Given the description of an element on the screen output the (x, y) to click on. 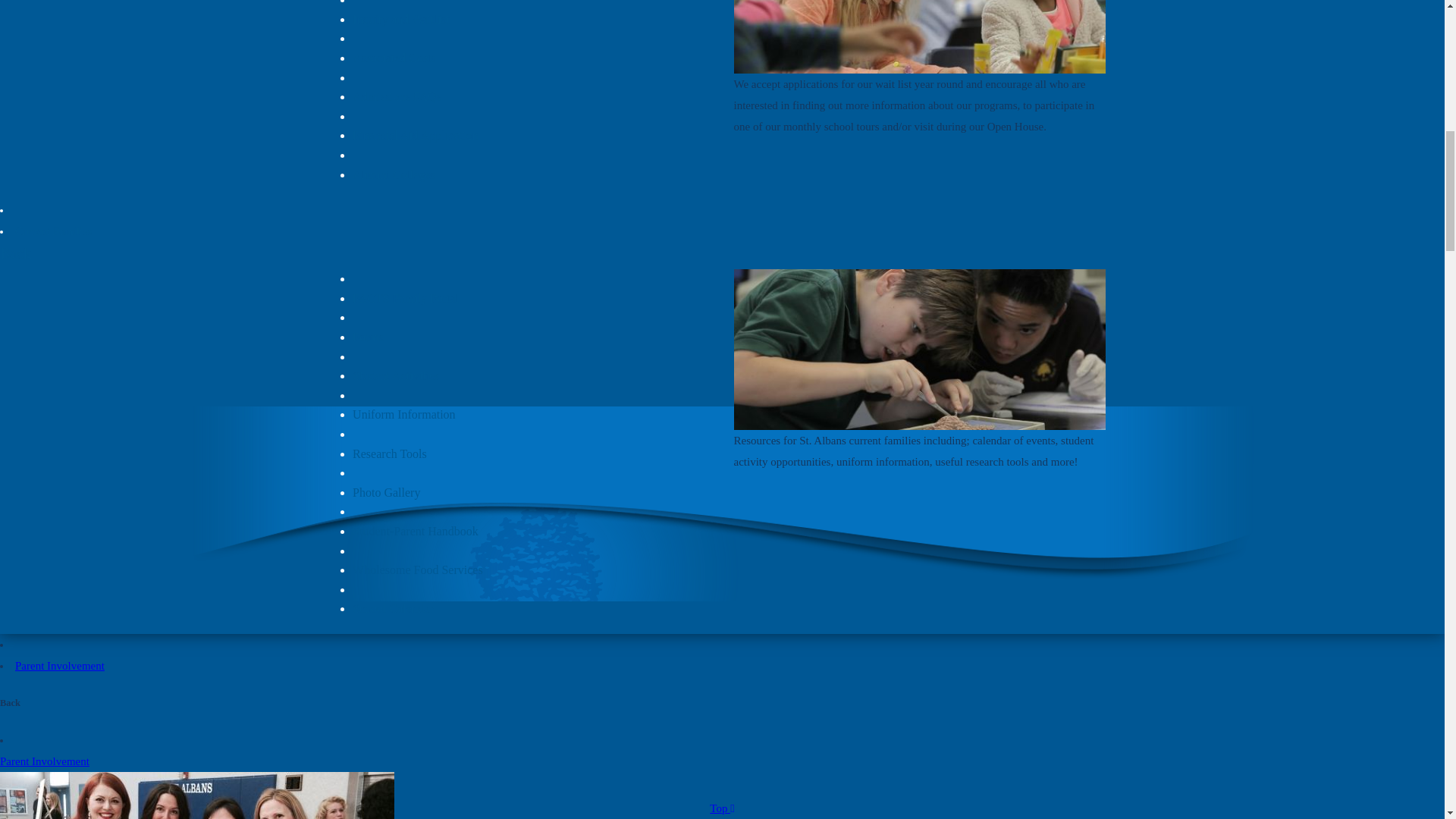
Admissions FAQs (396, 96)
Inquiry and Waitlist (400, 19)
Financial Aid Application (414, 134)
Alumni Colleges (393, 174)
Associated Costs (393, 57)
